Given the description of an element on the screen output the (x, y) to click on. 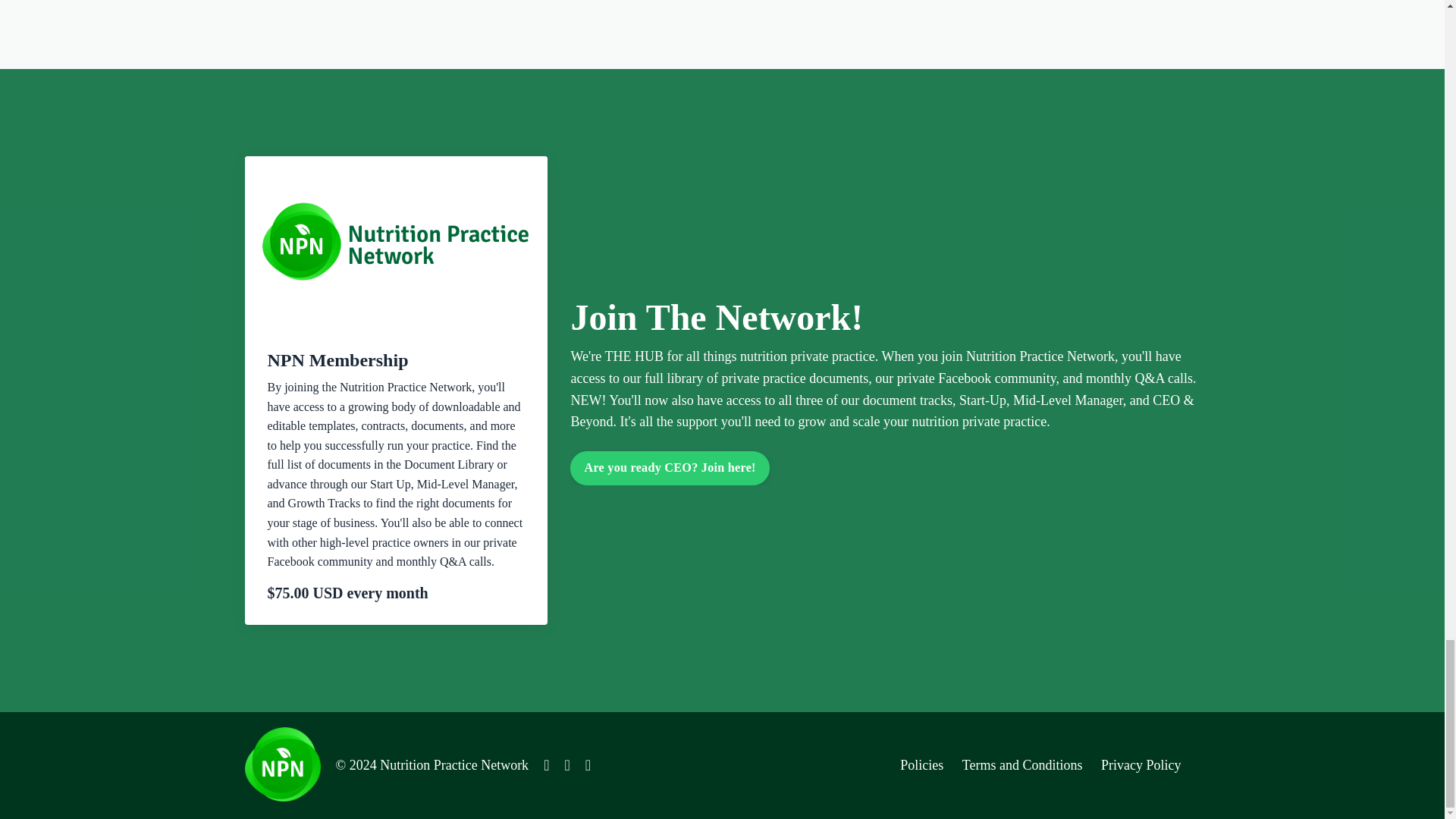
Terms and Conditions (1022, 765)
Policies (921, 765)
Are you ready CEO? Join here! (669, 467)
Privacy Policy (1140, 765)
